Given the description of an element on the screen output the (x, y) to click on. 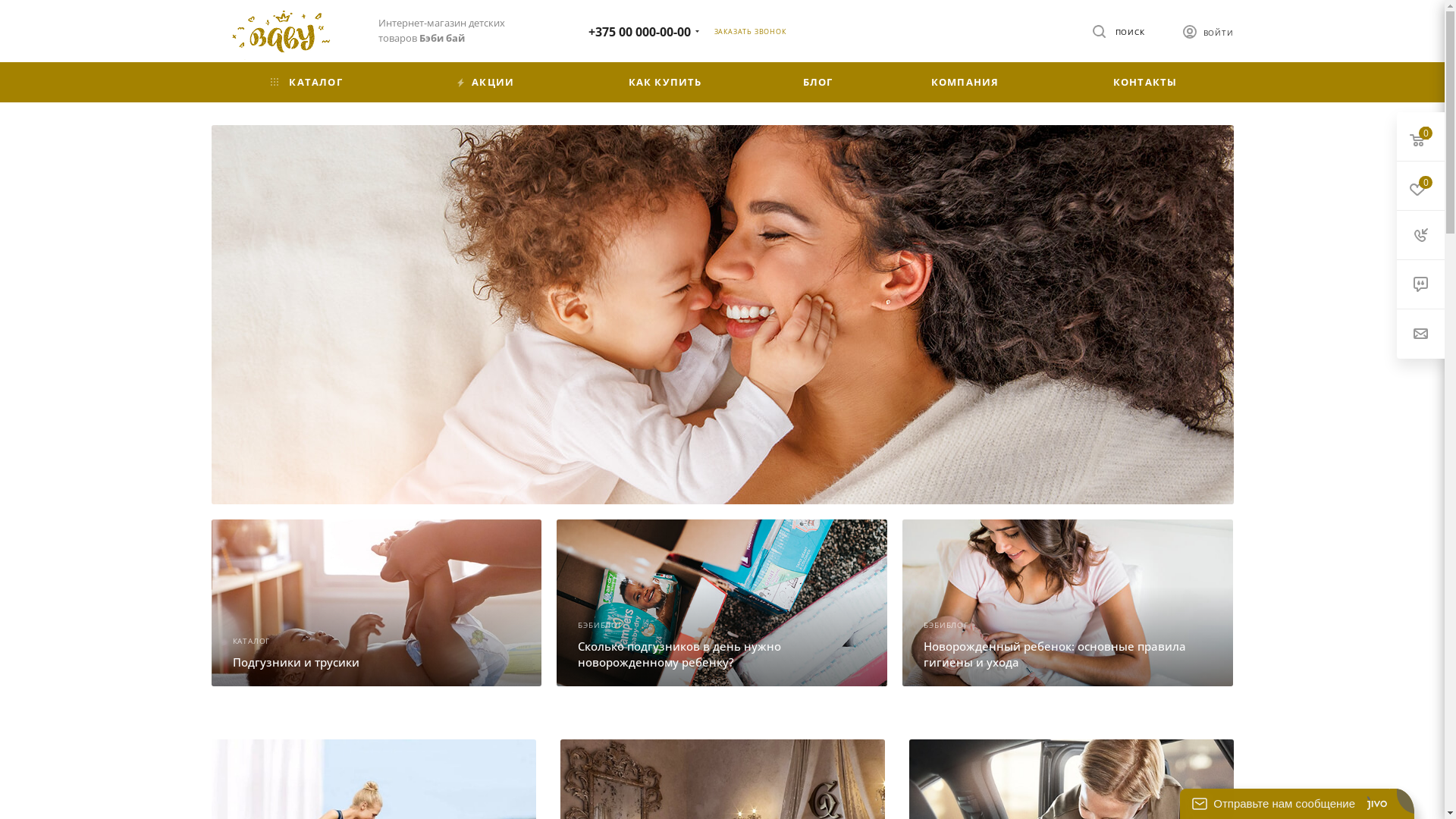
+375 00 000-00-00 Element type: text (639, 30)
baby.by Element type: hover (282, 32)
